Given the description of an element on the screen output the (x, y) to click on. 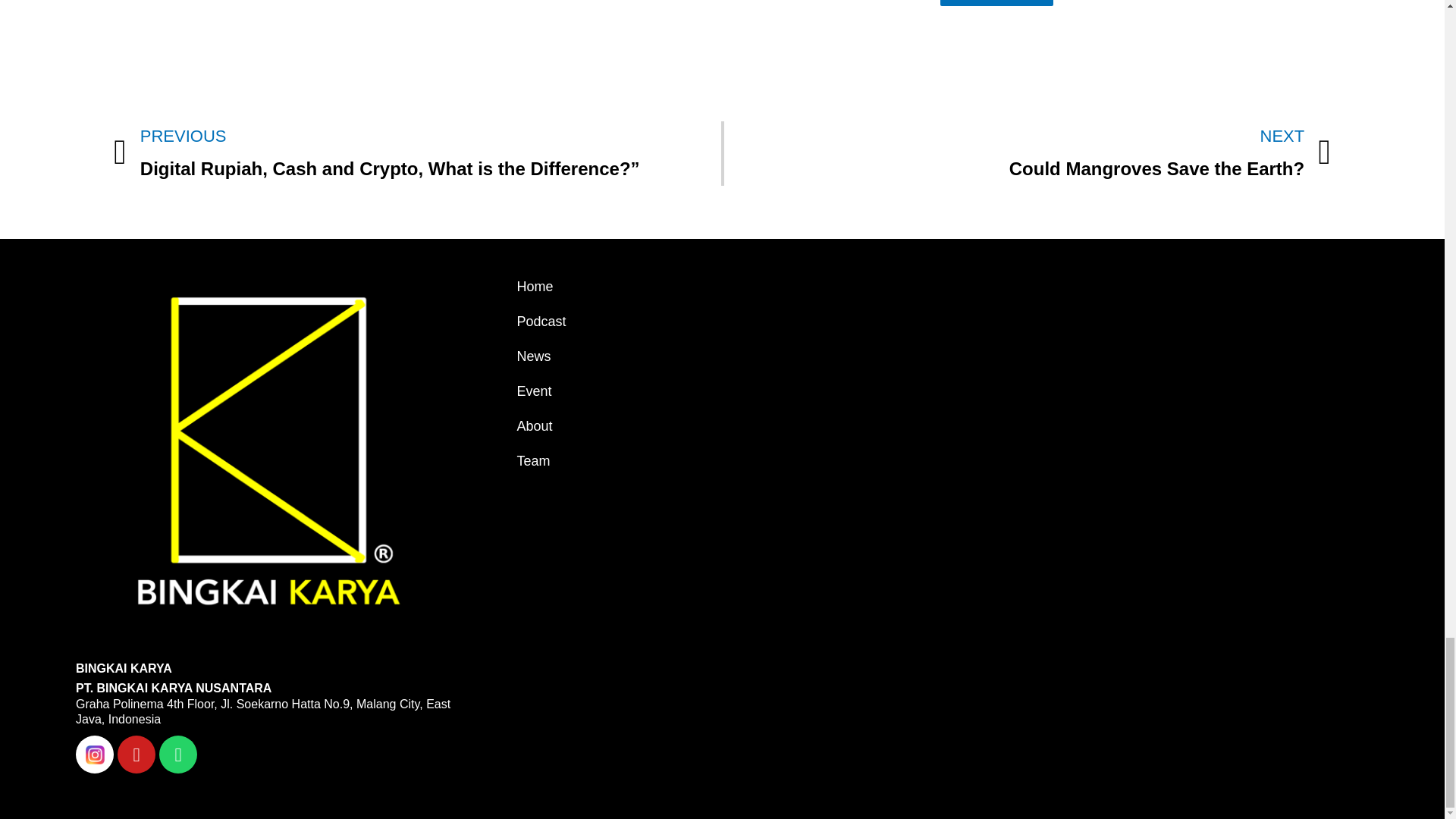
Bingkai Karya (1105, 382)
